Given the description of an element on the screen output the (x, y) to click on. 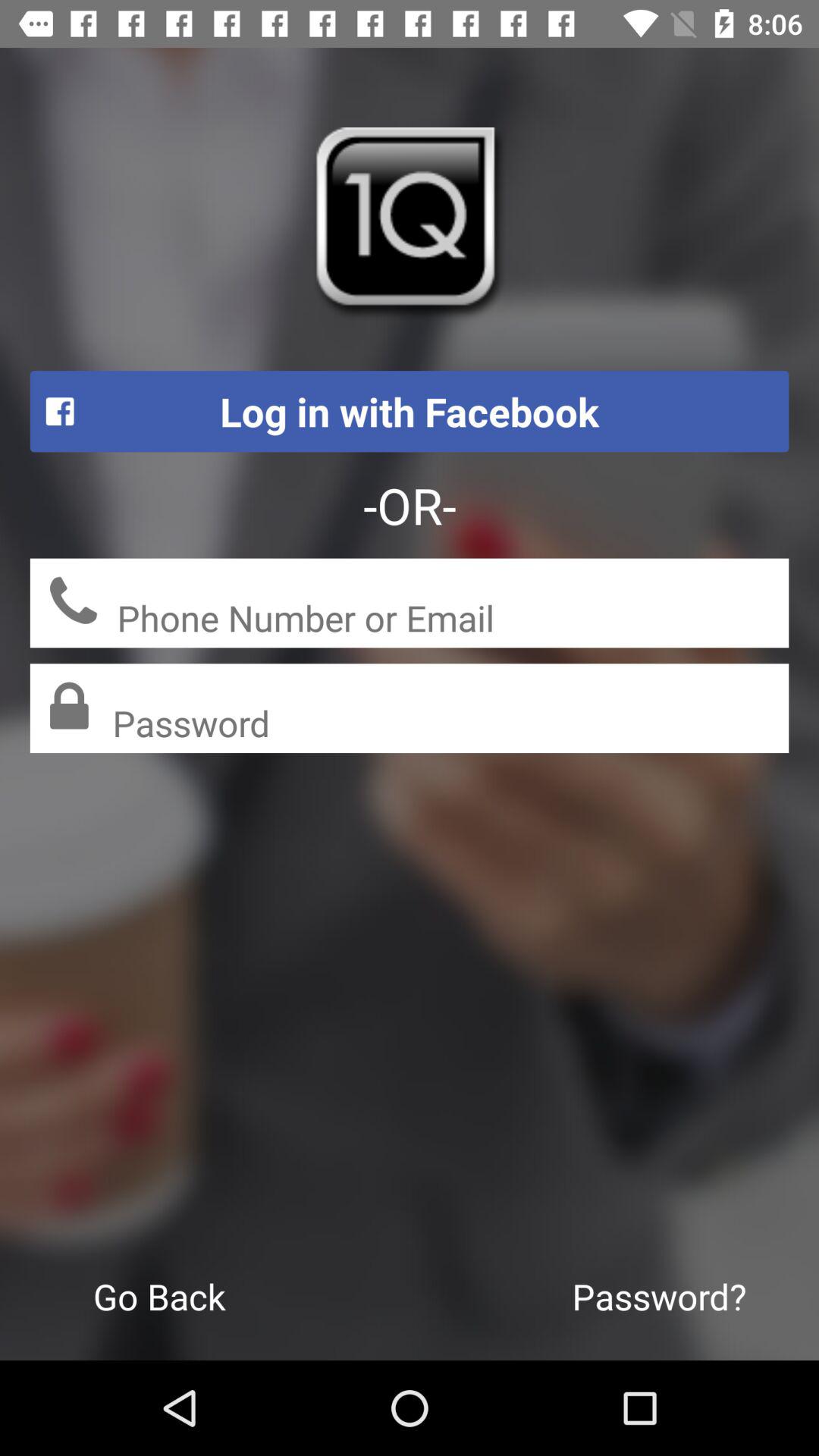
tap the icon to the right of the go back icon (658, 1296)
